Given the description of an element on the screen output the (x, y) to click on. 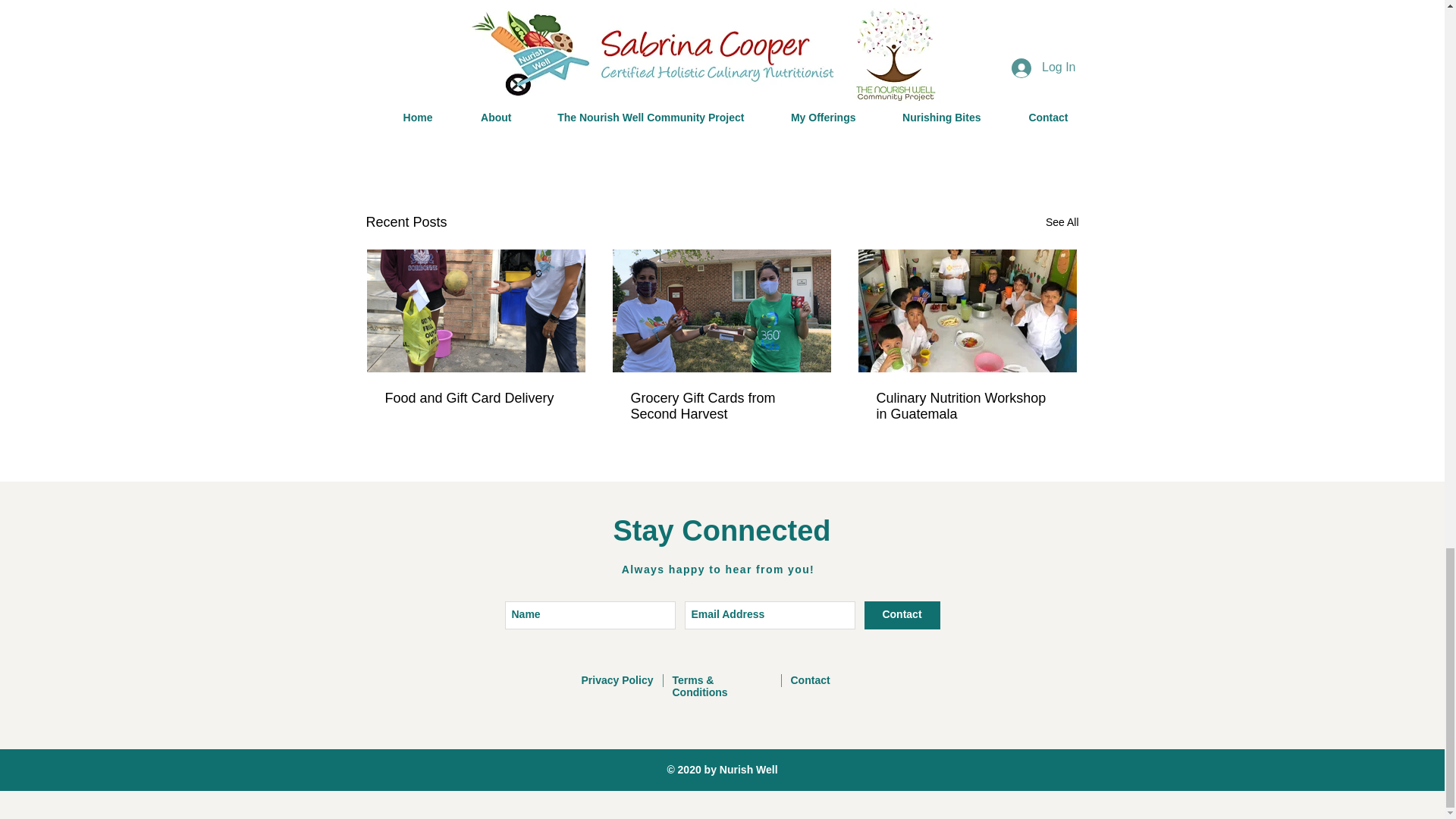
Contact (809, 680)
Events (987, 123)
Culinary Nutrition Workshop in Guatemala (967, 406)
Privacy Policy (616, 680)
See All (1061, 222)
Grocery Gift Cards from Second Harvest (721, 406)
Food and Gift Card Delivery (476, 398)
Educationinvolved.org   (766, 52)
Contact (902, 615)
